Given the description of an element on the screen output the (x, y) to click on. 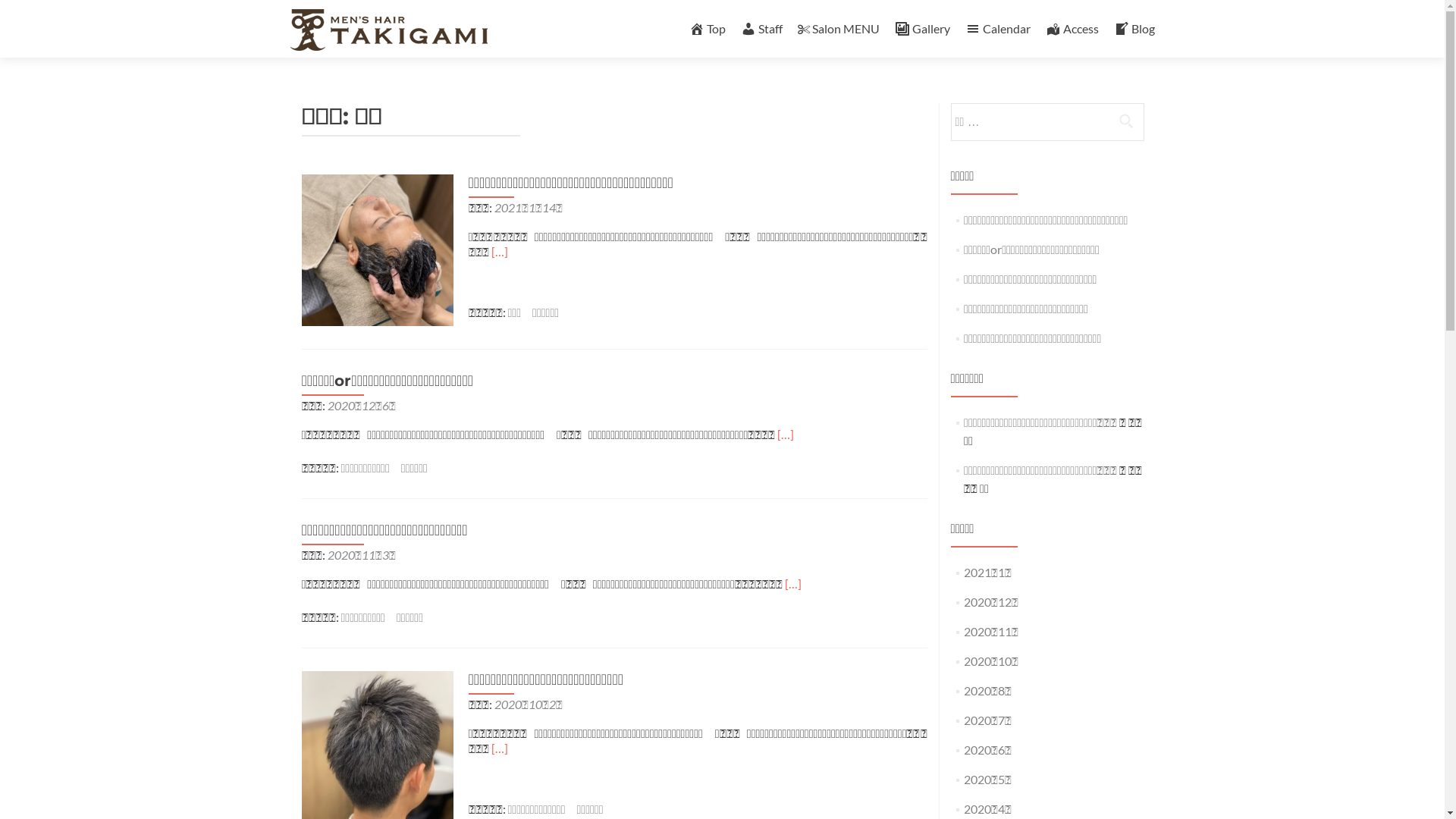
Gallery Element type: text (922, 28)
Calendar Element type: text (996, 28)
Staff Element type: text (760, 28)
Top Element type: text (706, 28)
Salon MENU Element type: text (838, 28)
Access Element type: text (1071, 28)
Blog Element type: text (1133, 28)
